Given the description of an element on the screen output the (x, y) to click on. 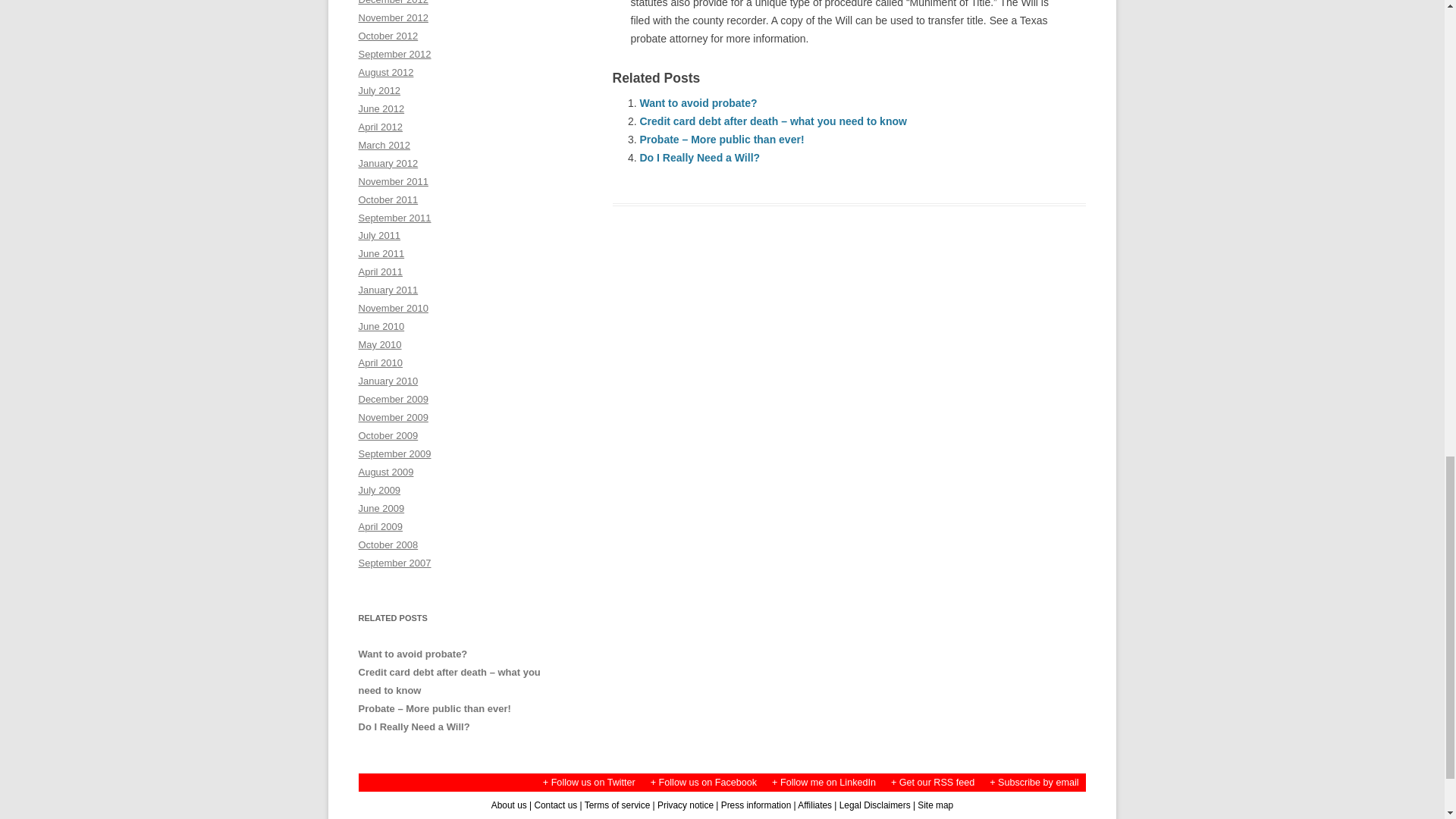
Want to avoid probate? (698, 102)
Do I Really Need a Will? (700, 157)
